Given the description of an element on the screen output the (x, y) to click on. 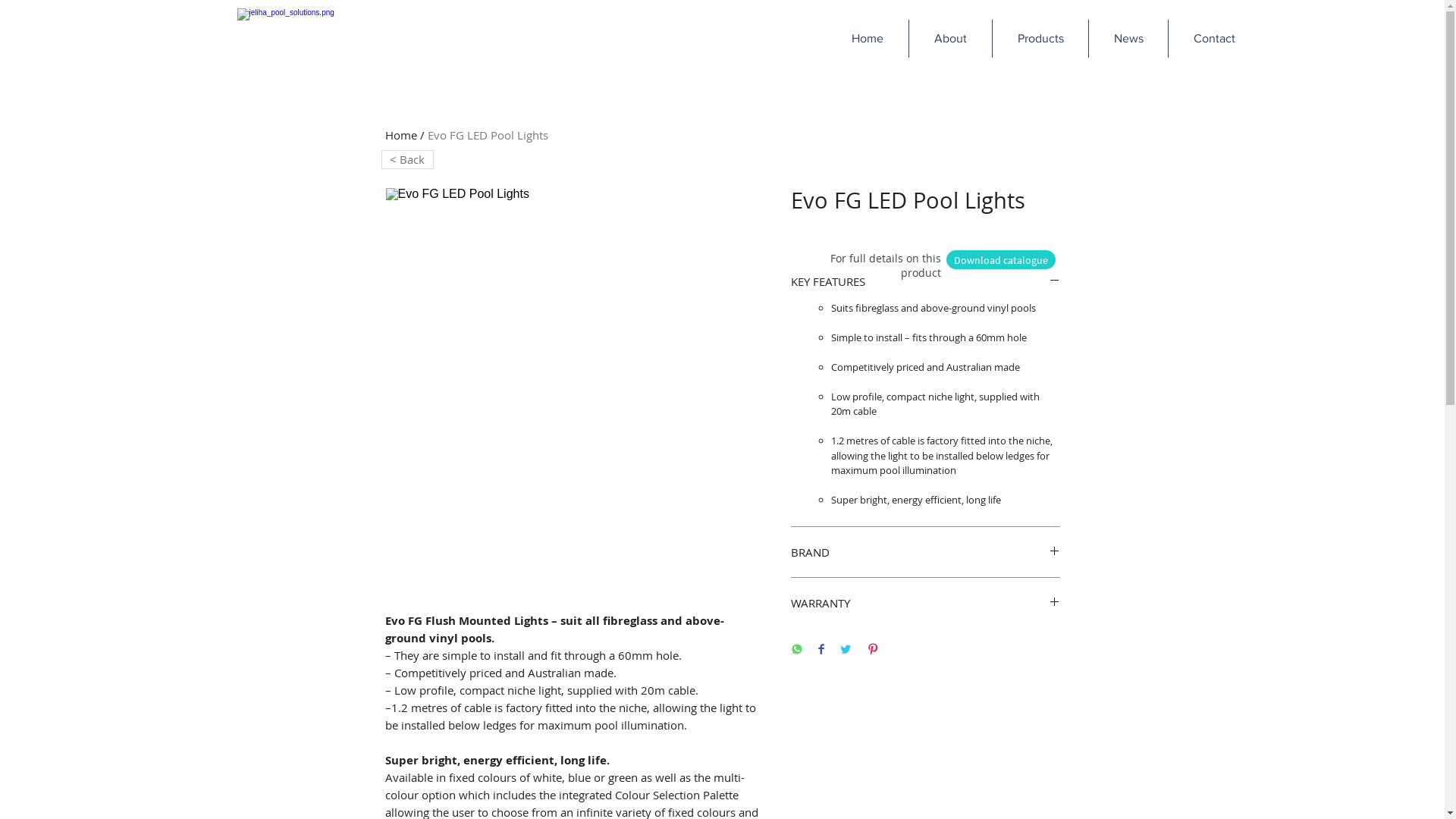
News Element type: text (1127, 38)
BRAND Element type: text (924, 551)
Products Element type: text (1039, 38)
WARRANTY Element type: text (924, 602)
About Element type: text (949, 38)
< Back Element type: text (406, 159)
Contact Element type: text (1213, 38)
Home Element type: text (401, 134)
Download catalogue Element type: text (1000, 259)
Home Element type: text (867, 38)
KEY FEATURES Element type: text (924, 281)
